Given the description of an element on the screen output the (x, y) to click on. 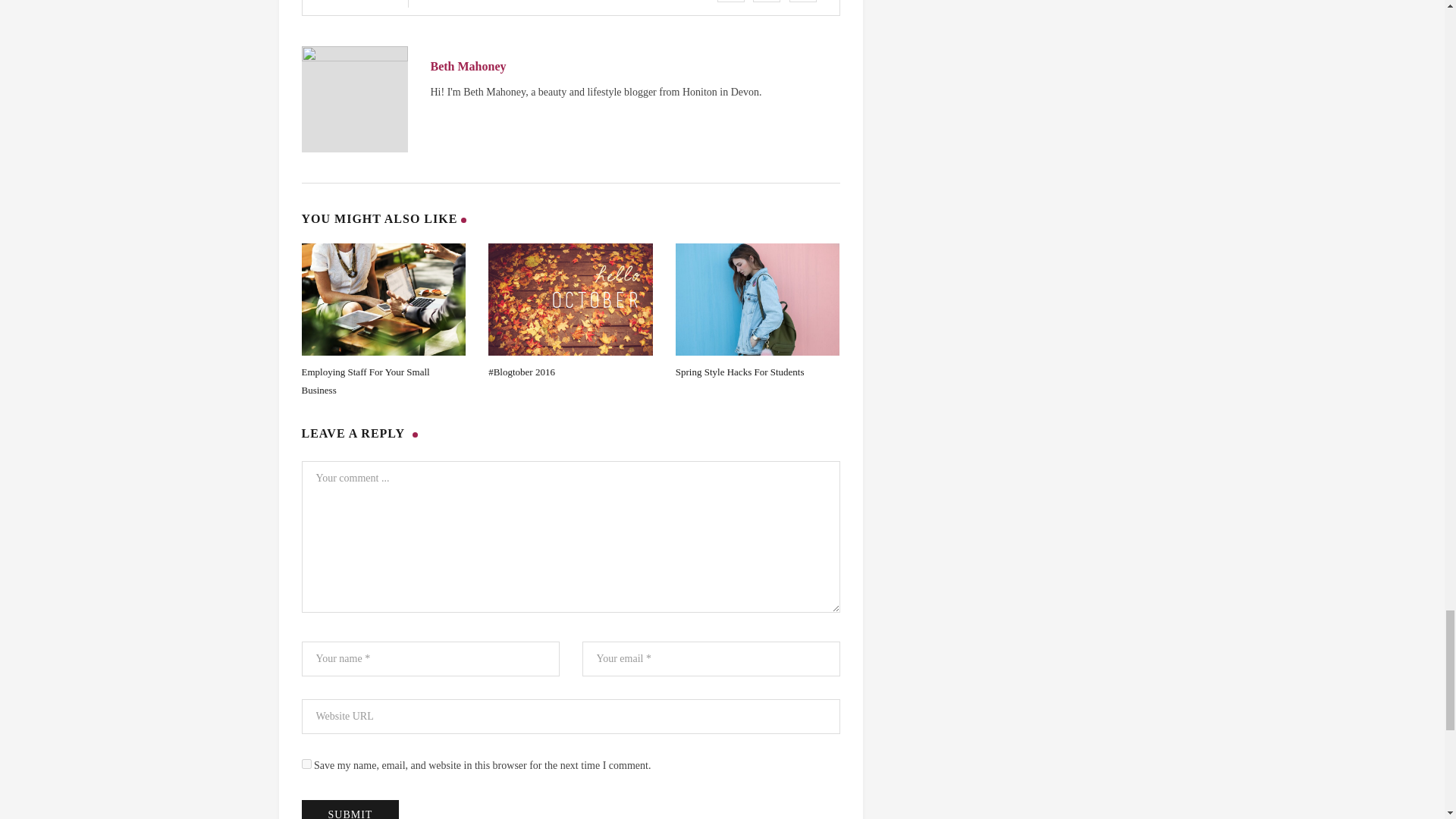
yes (306, 764)
Submit (349, 809)
Employing Staff For Your Small Business (365, 380)
Beth Mahoney (468, 65)
